Given the description of an element on the screen output the (x, y) to click on. 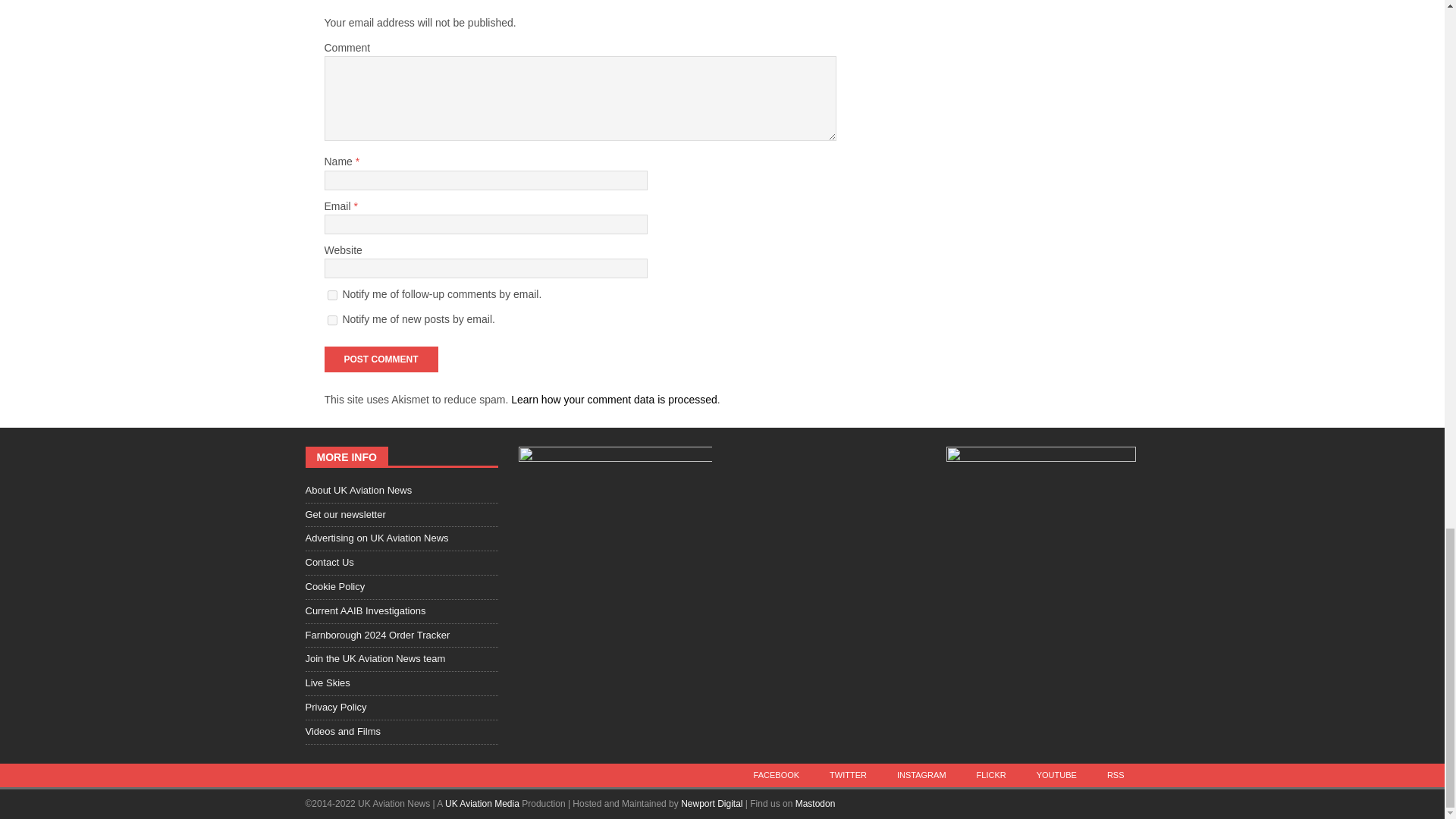
Post Comment (381, 359)
subscribe (332, 295)
subscribe (332, 320)
